Given the description of an element on the screen output the (x, y) to click on. 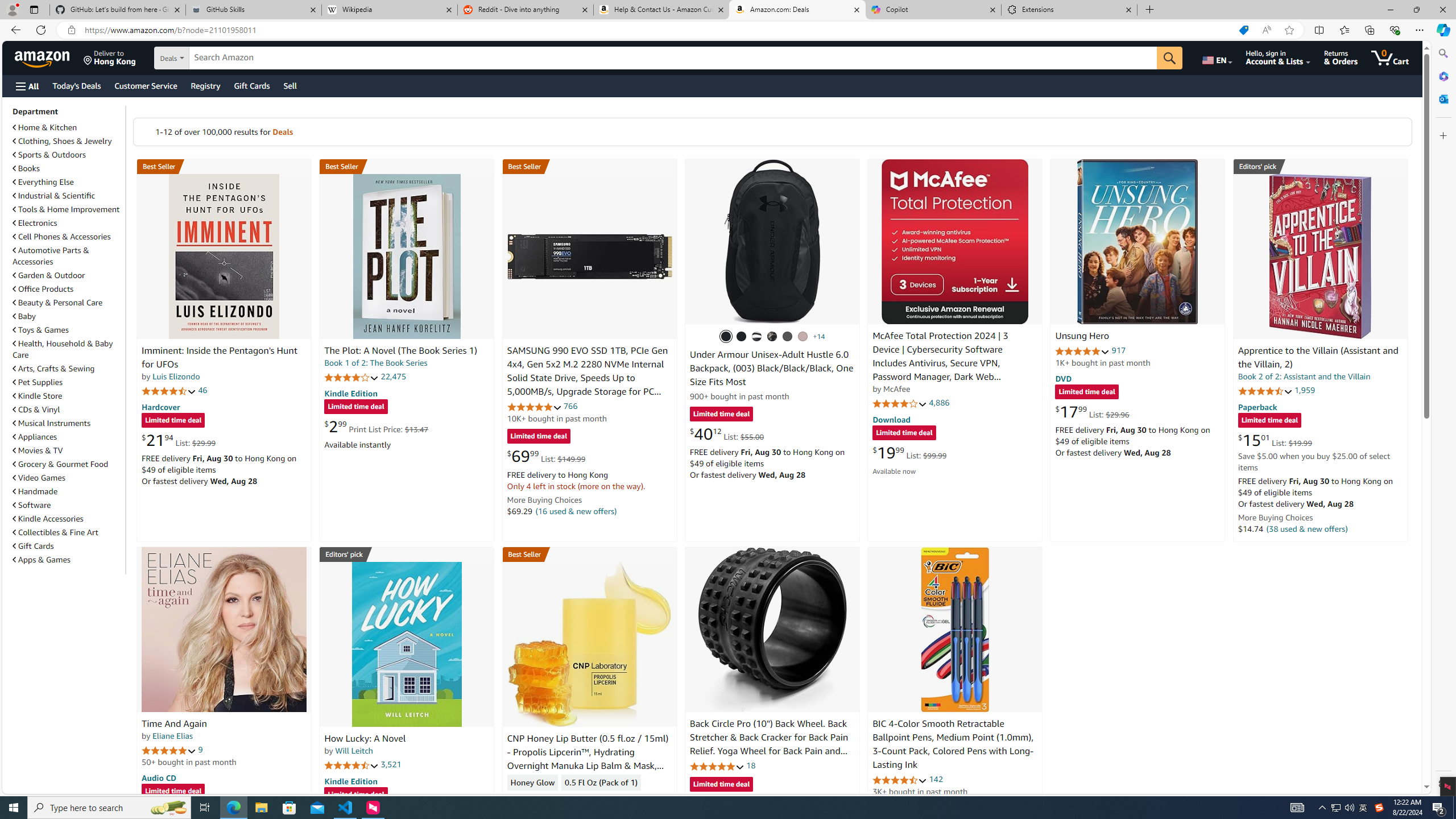
Refresh (40, 29)
(015) Tetra Gray / Tetra Gray / Gray Matter (802, 336)
CDs & Vinyl (36, 409)
Copilot (Ctrl+Shift+.) (1442, 29)
CDs & Vinyl (67, 409)
Skip to main content (48, 56)
Imminent: Inside the Pentagon's Hunt for UFOs (219, 358)
Search in (210, 58)
Office Products (43, 289)
(004) Black / Black / Metallic Gold (772, 336)
Reddit - Dive into anything (525, 9)
DVD (1063, 378)
(38 used & new offers) (1307, 528)
Microsoft 365 (1442, 76)
